Given the description of an element on the screen output the (x, y) to click on. 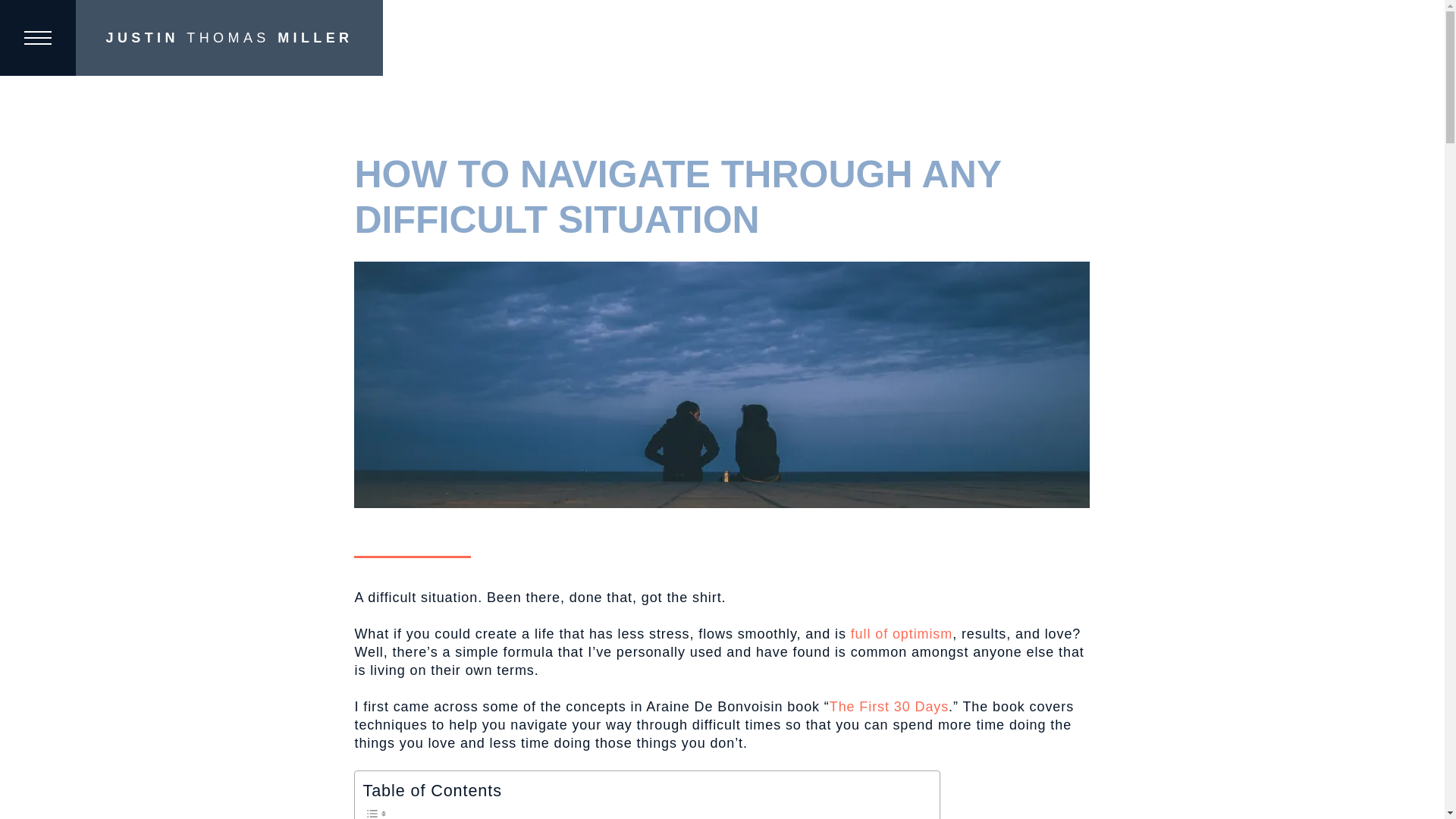
full of optimism (901, 633)
The First 30 Days (889, 706)
JUSTIN THOMAS MILLER (228, 38)
